Given the description of an element on the screen output the (x, y) to click on. 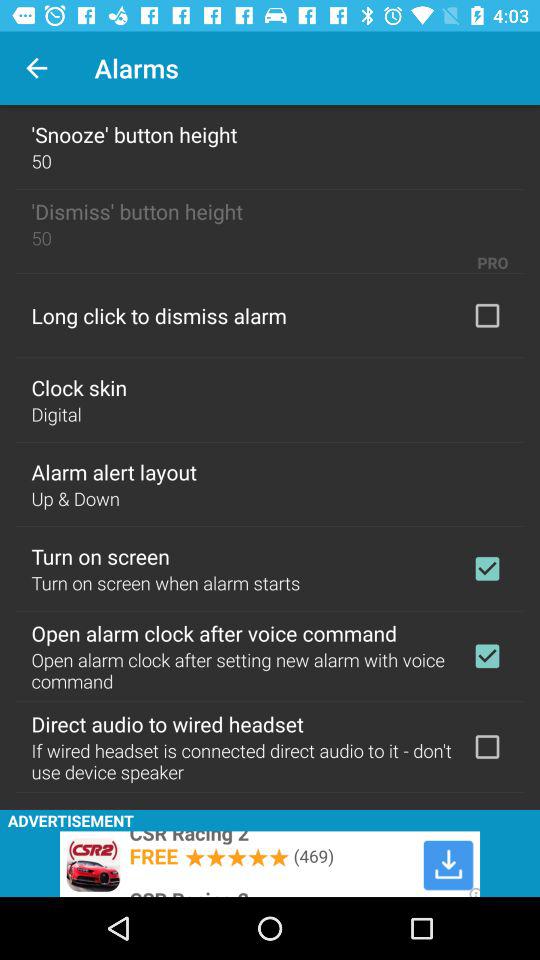
check to turn on option (487, 568)
